Given the description of an element on the screen output the (x, y) to click on. 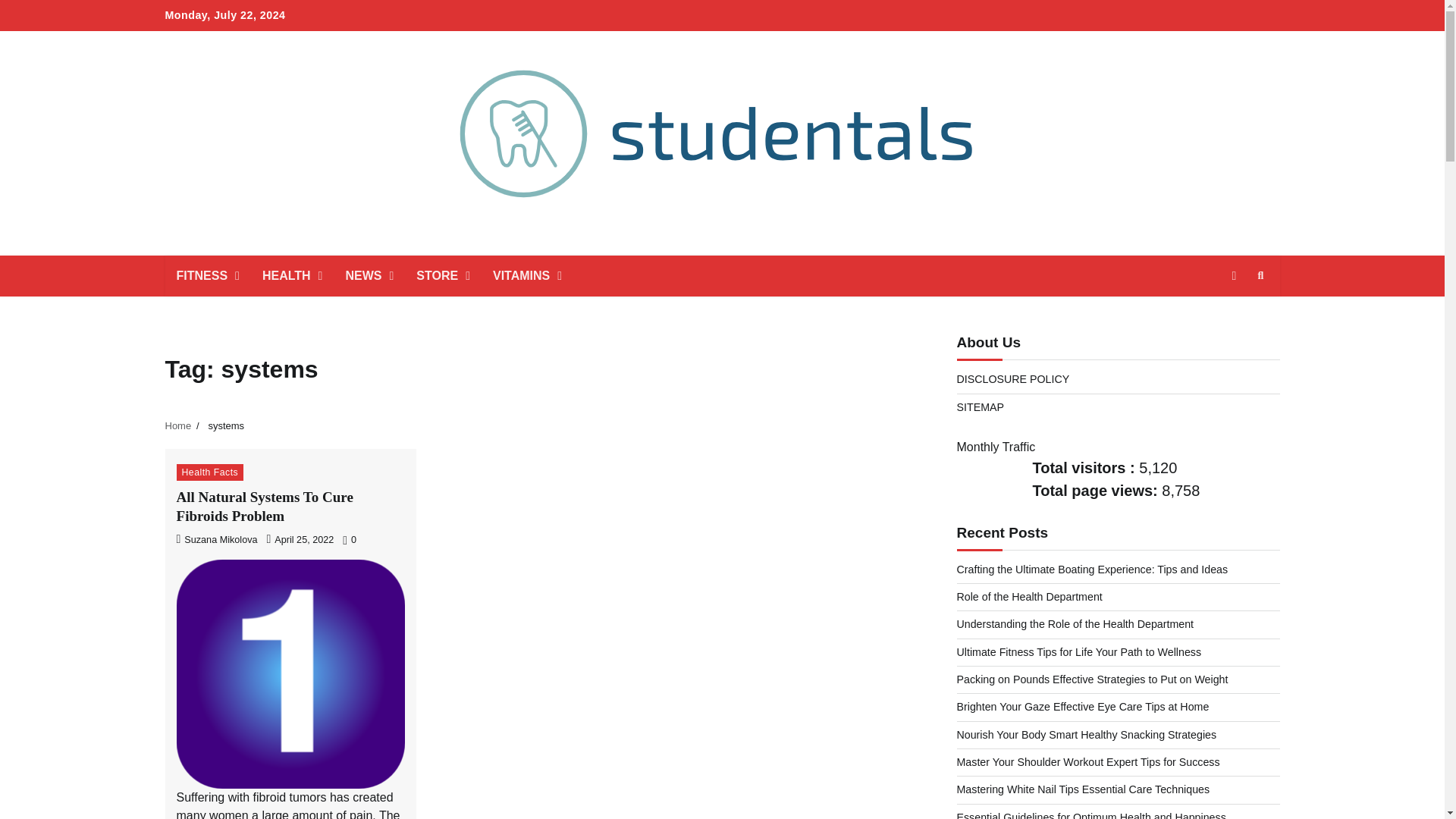
SITEMAP (980, 407)
Health Facts (209, 472)
All Natural Systems To Cure Fibroids Problem (264, 506)
HEALTH (292, 275)
Search (1260, 275)
View Random Post (1233, 275)
Understanding the Role of the Health Department (1074, 623)
VITAMINS (527, 275)
Home (178, 425)
STORE (442, 275)
NEWS (368, 275)
DISCLOSURE POLICY (1013, 378)
Crafting the Ultimate Boating Experience: Tips and Ideas (1092, 569)
FITNESS (207, 275)
Suzana Mikolova (216, 539)
